Given the description of an element on the screen output the (x, y) to click on. 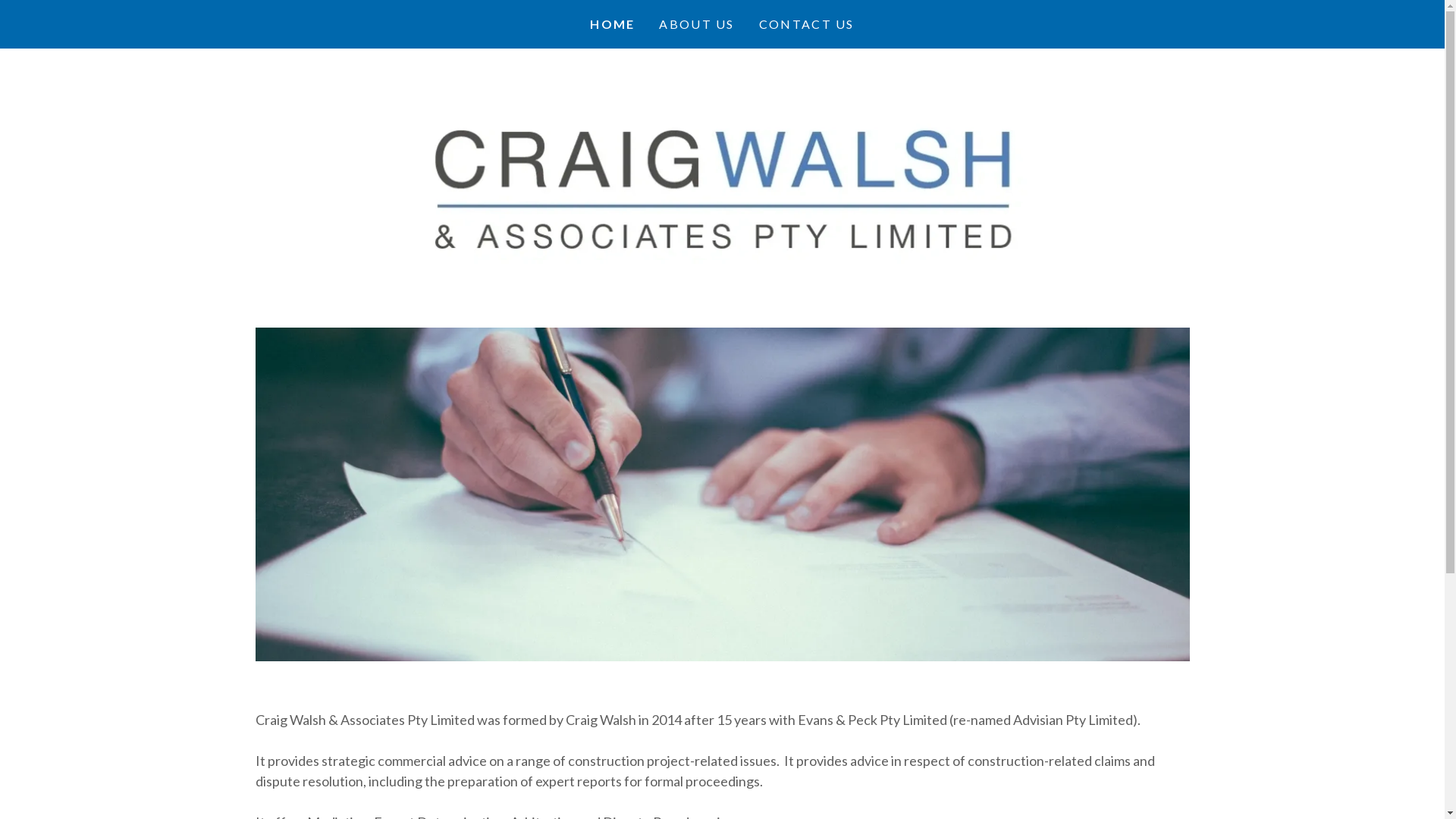
CONTACT US Element type: text (806, 23)
Craig Walsh & Associates Pty Limited Element type: hover (722, 186)
ABOUT US Element type: text (696, 23)
HOME Element type: text (611, 24)
